Given the description of an element on the screen output the (x, y) to click on. 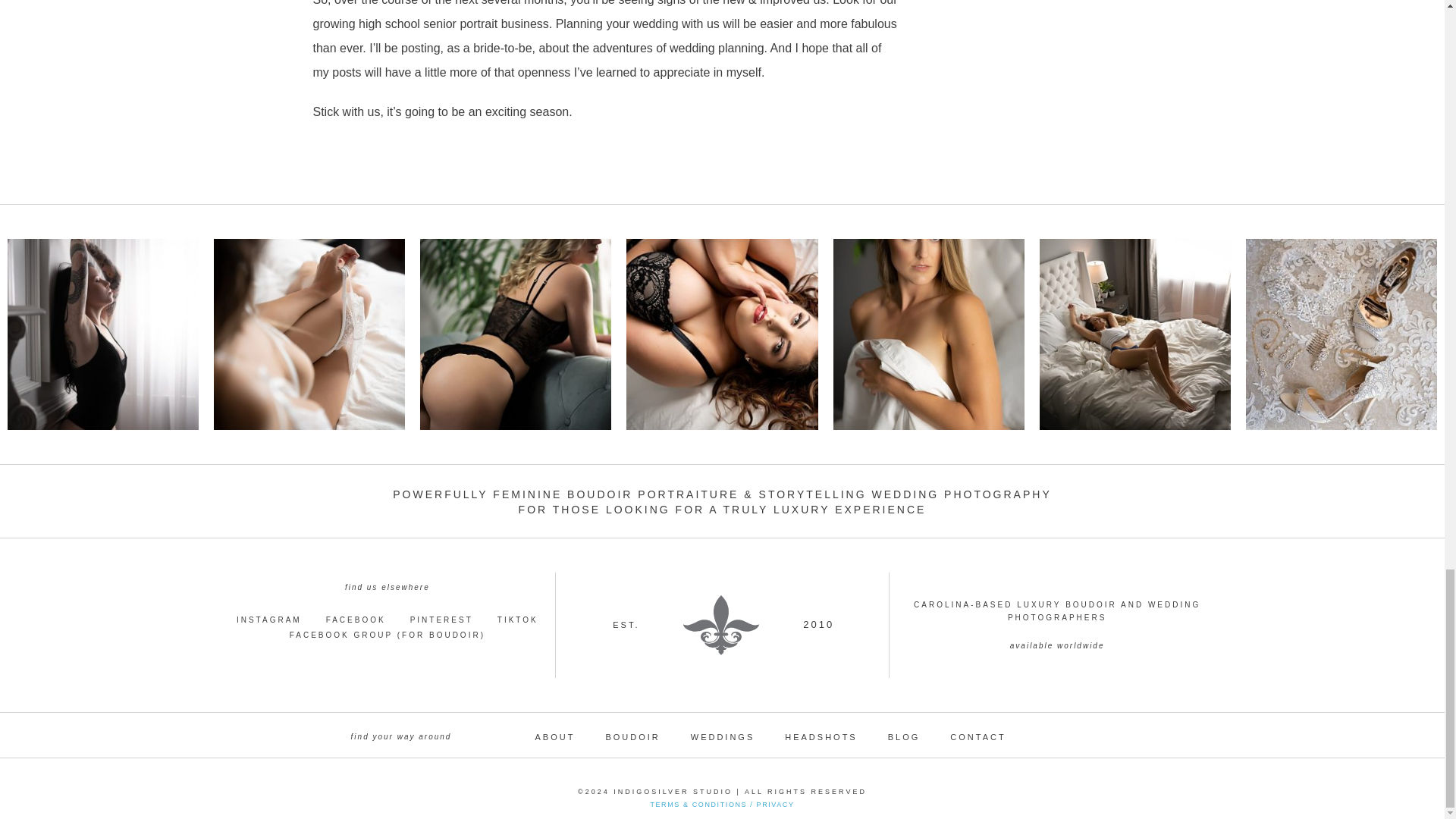
north-carolina-implied-boudoir-photography-004 (927, 334)
wilmington-north-carolina-boudoir-photographer-10 (102, 334)
wilmington-north-carolina-boudoir-photographer-012 (1134, 334)
wilmington-north-carolina-boudoir-photographer-034.jpg (309, 334)
wilmington-boudoir-pictures-022 (515, 334)
wilmington-north-carolina-boudoir-photographer-035 (721, 334)
